Given the description of an element on the screen output the (x, y) to click on. 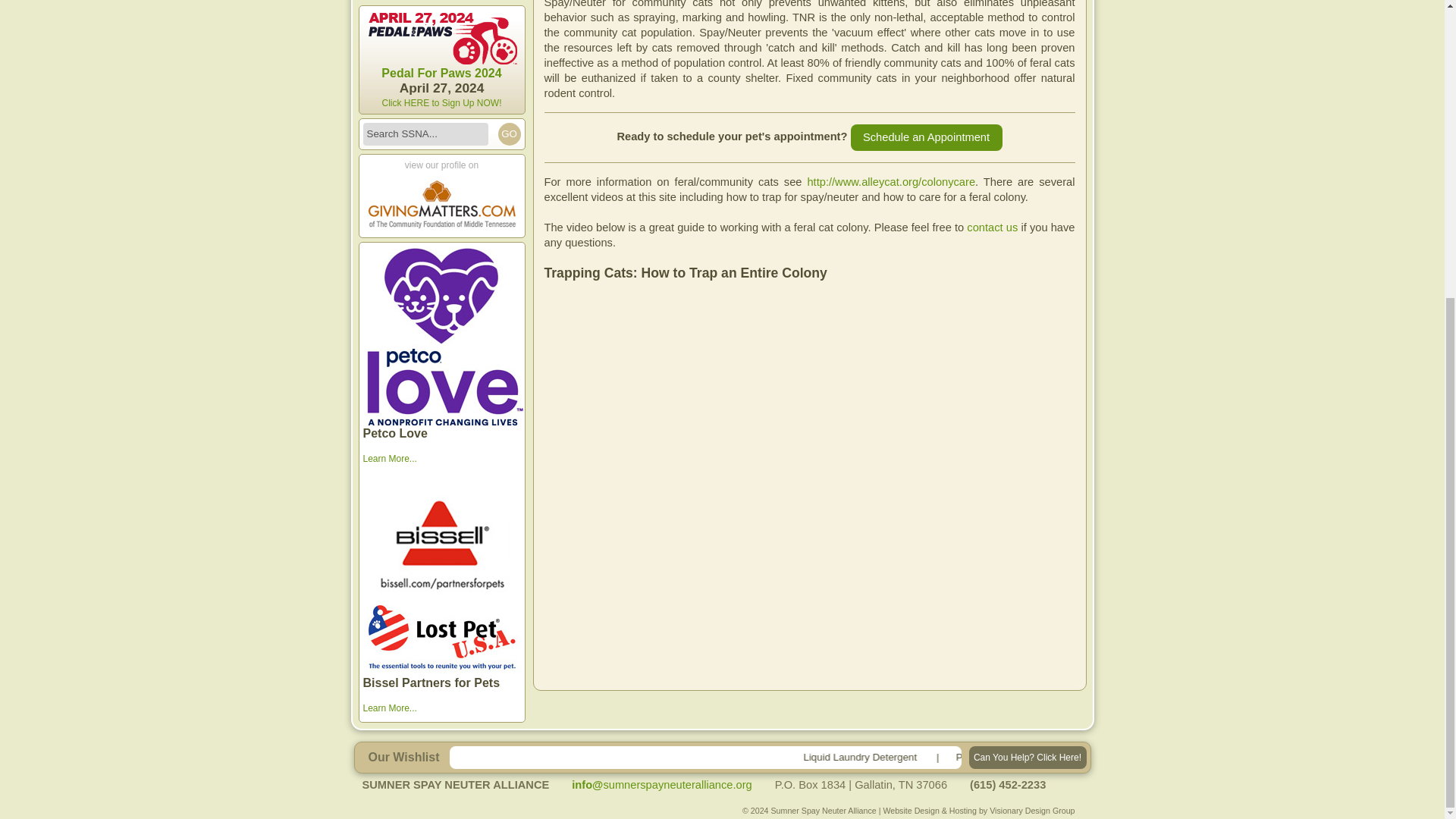
Search SSNA... (424, 133)
Learn More... (389, 707)
Visionary Design Group (1032, 809)
Click HERE to Sign Up NOW! (440, 102)
Schedule an Appointment (926, 137)
GO (508, 133)
GO (508, 133)
Pedal For Paws 2024 (440, 73)
Learn More... (389, 472)
Can You Help? Click Here! (1027, 757)
contact us (991, 227)
